Given the description of an element on the screen output the (x, y) to click on. 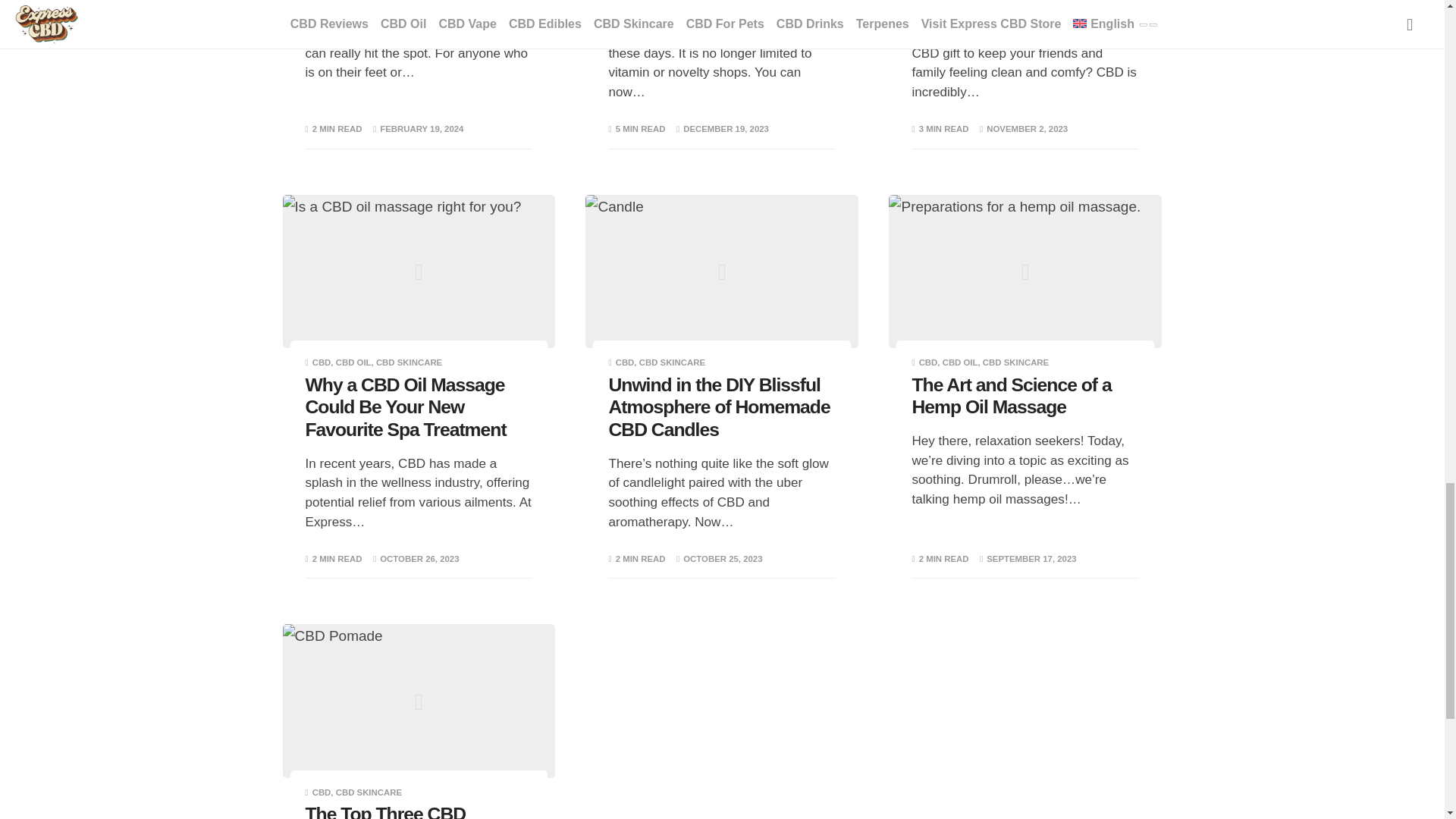
CBD (322, 361)
CBD SKINCARE (408, 361)
CBD (624, 361)
CBD OIL (353, 361)
